Given the description of an element on the screen output the (x, y) to click on. 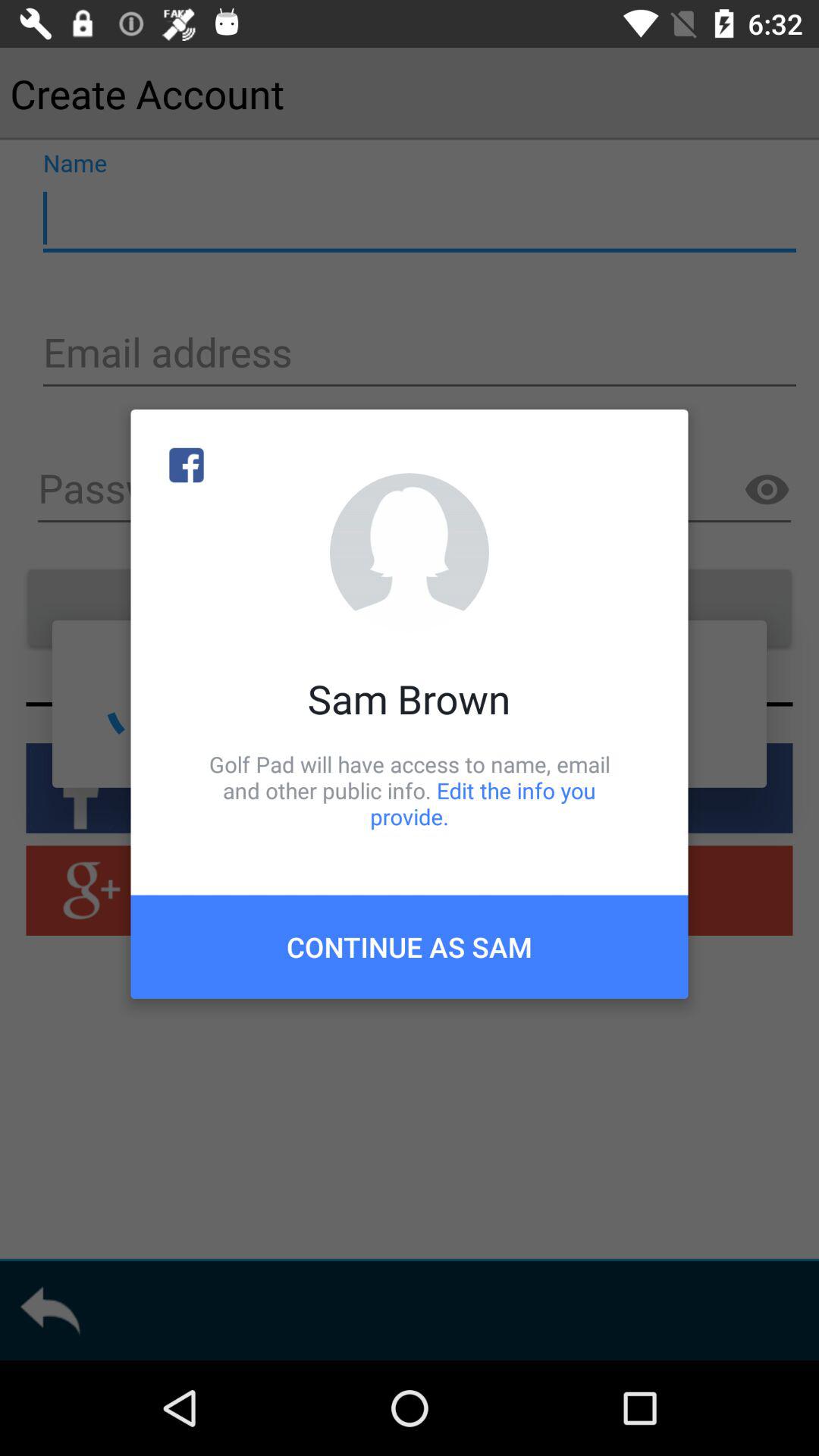
choose continue as sam (409, 946)
